Given the description of an element on the screen output the (x, y) to click on. 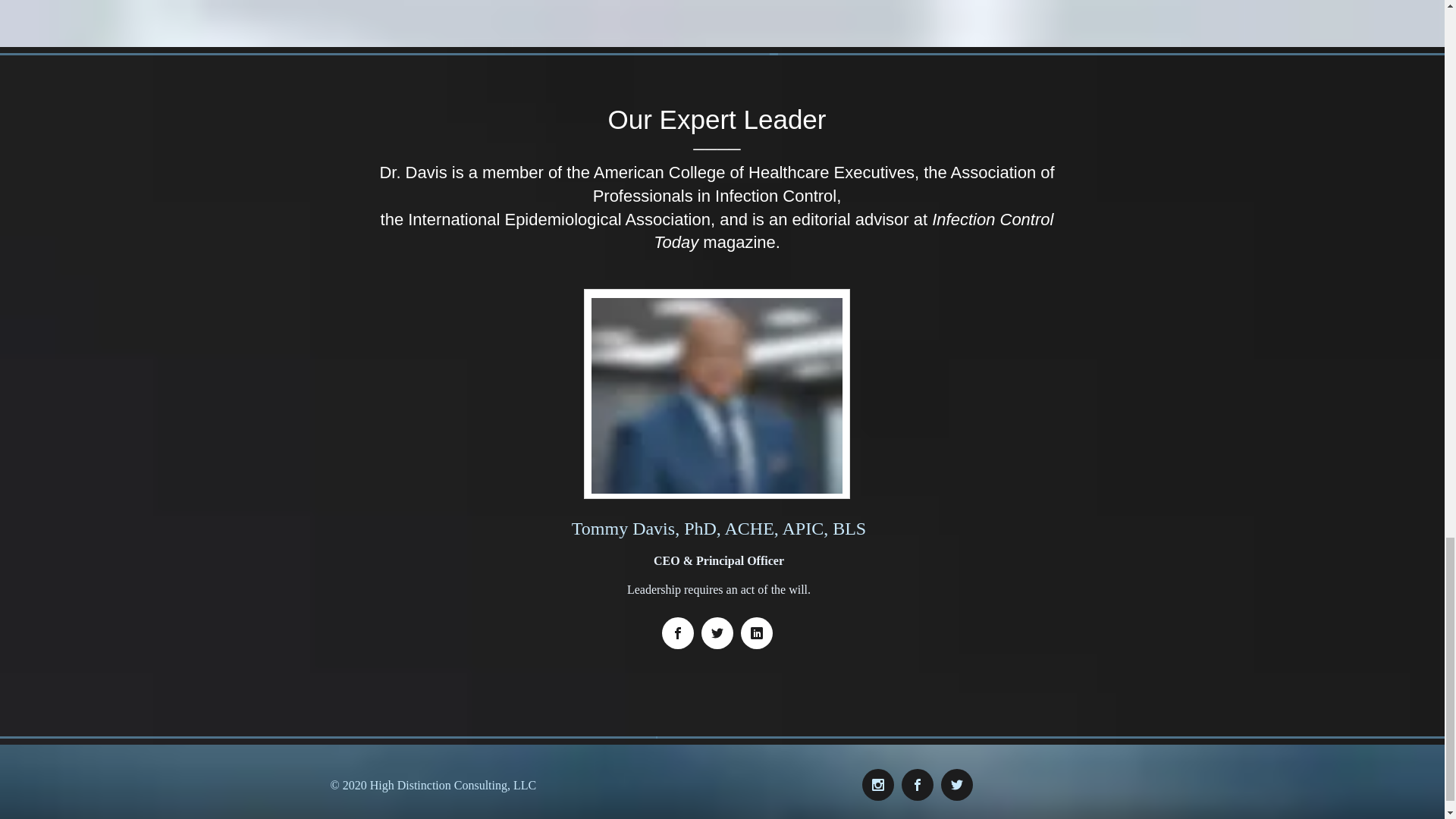
Infection Control Today (852, 230)
